Given the description of an element on the screen output the (x, y) to click on. 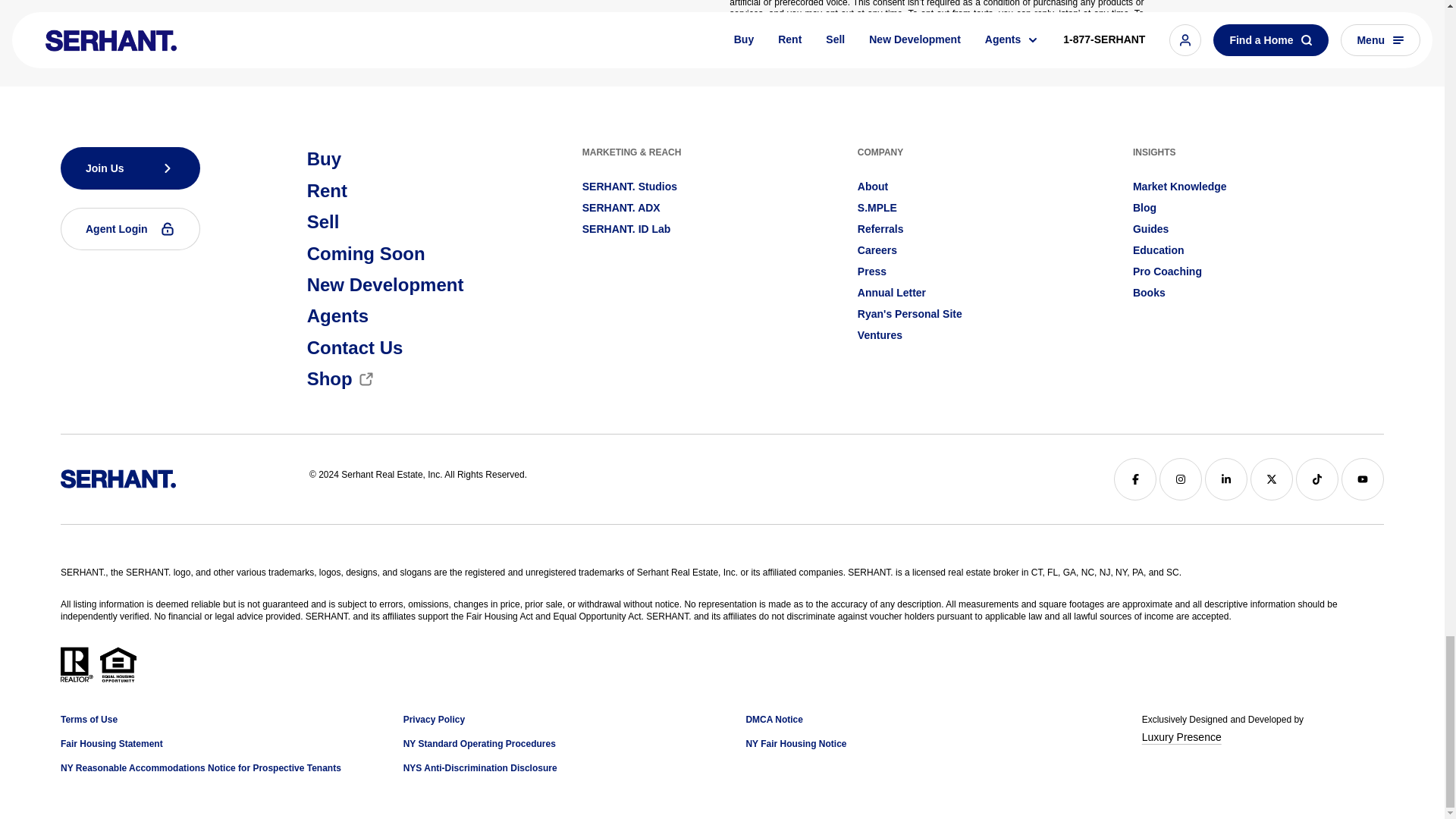
Sell It Pro Coaching (1167, 271)
SERHANT. S.MPLE (876, 207)
